Given the description of an element on the screen output the (x, y) to click on. 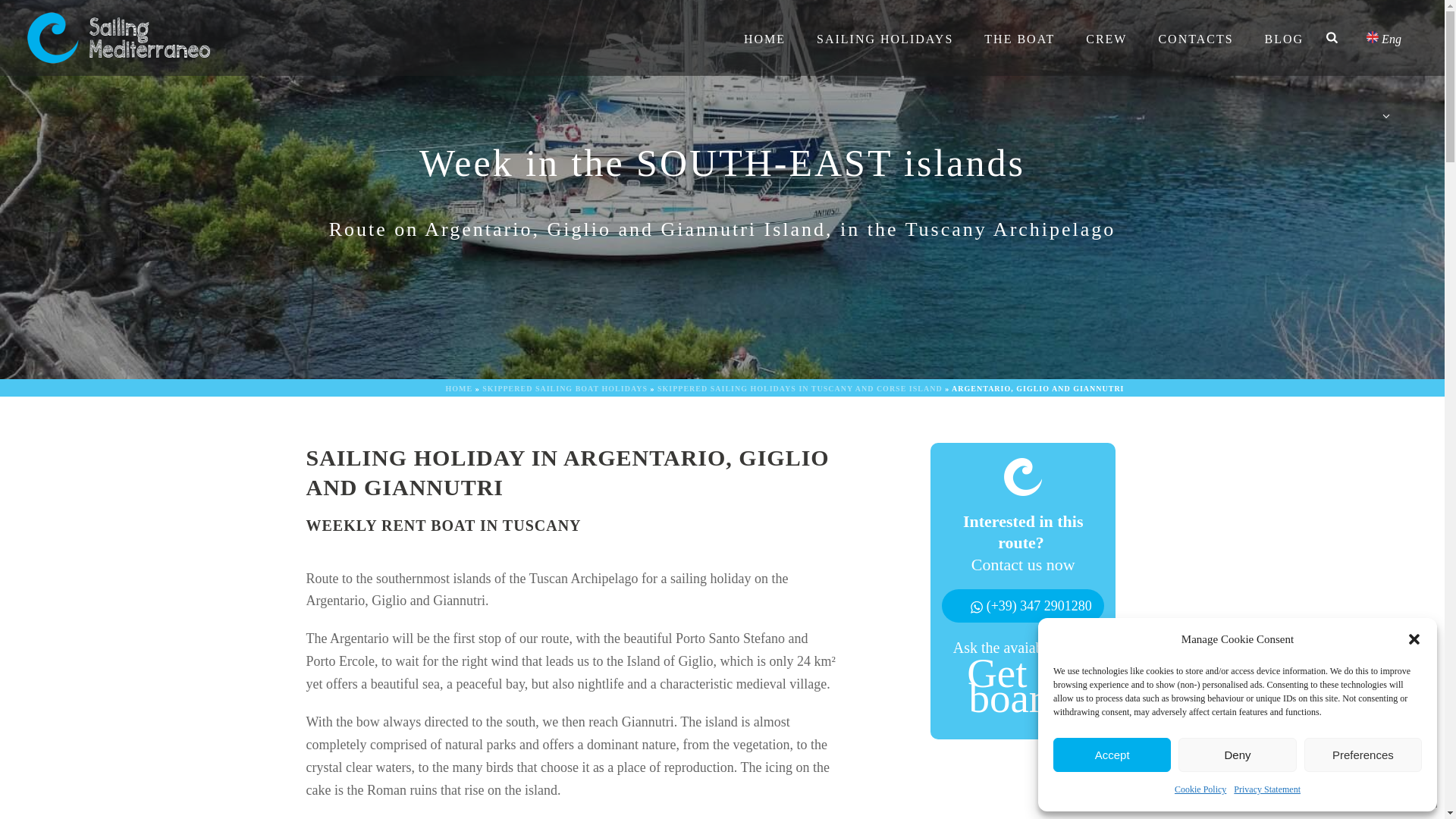
Cookie Policy (1199, 789)
HOME (764, 38)
THE BOAT (1019, 38)
Deny (1236, 754)
Preferences (1363, 754)
Skippered sailing holidays (115, 38)
BLOG (1284, 38)
CONTACTS (1194, 38)
CREW (1105, 38)
CREW (1105, 38)
Eng (1383, 38)
HOME (764, 38)
Chiama o scrivi su WhatsApp (1039, 605)
SAILING HOLIDAYS (885, 38)
Eng (1383, 38)
